Given the description of an element on the screen output the (x, y) to click on. 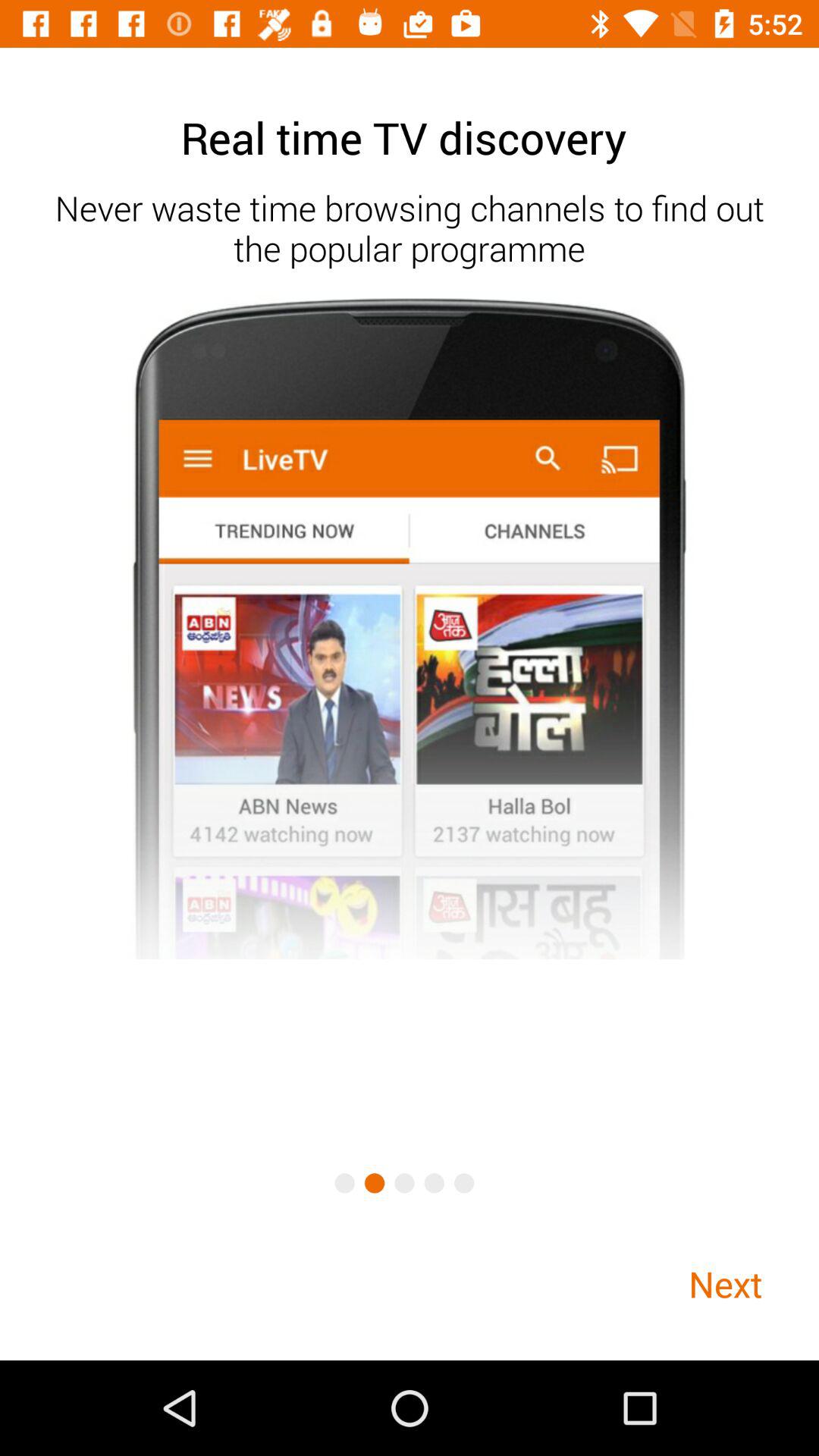
jump to the next item (725, 1283)
